Given the description of an element on the screen output the (x, y) to click on. 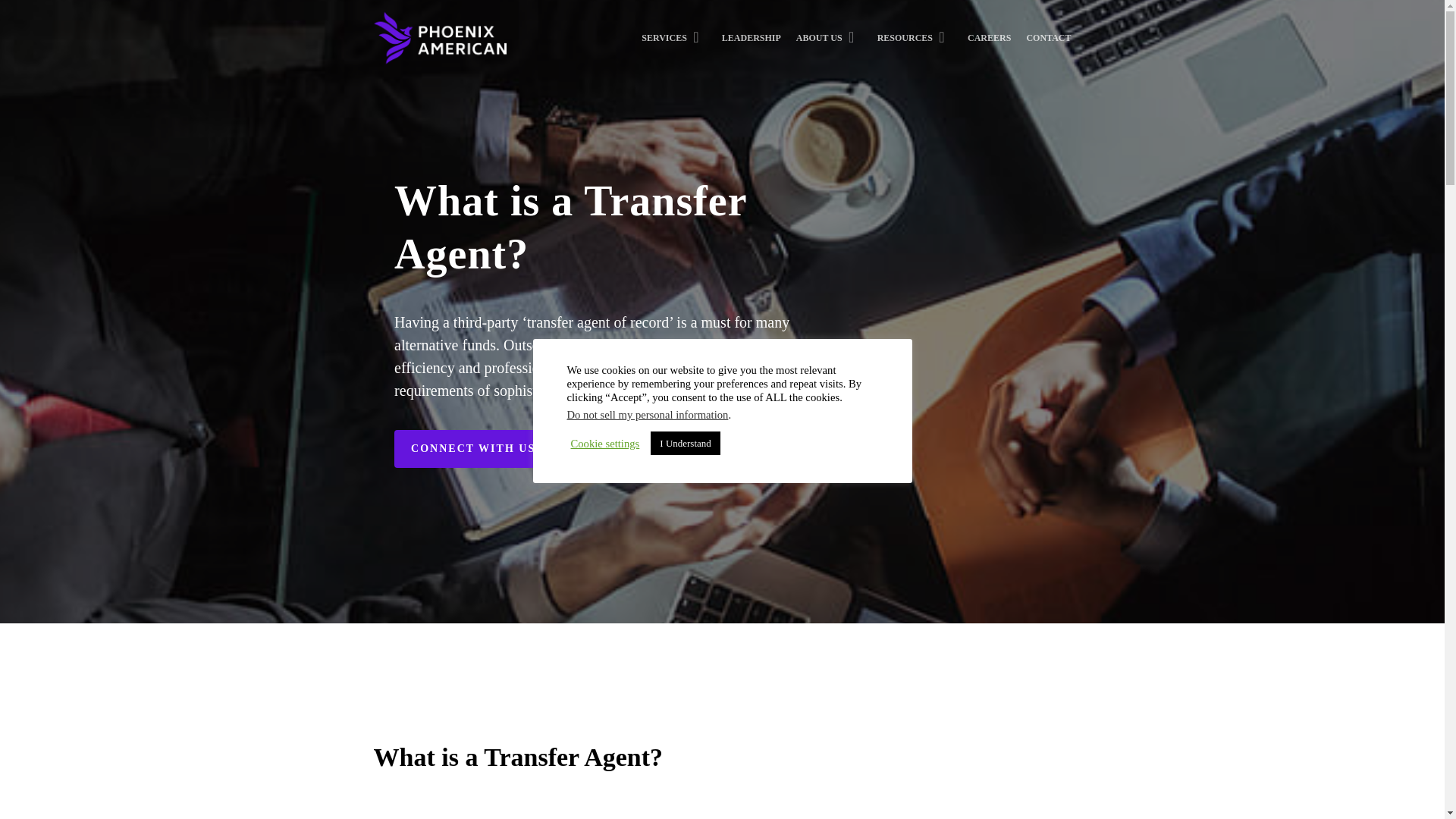
SERVICES (674, 43)
LEADERSHIP (751, 43)
ABOUT US (828, 43)
CONNECT WITH US (472, 448)
RESOURCES (914, 43)
